Given the description of an element on the screen output the (x, y) to click on. 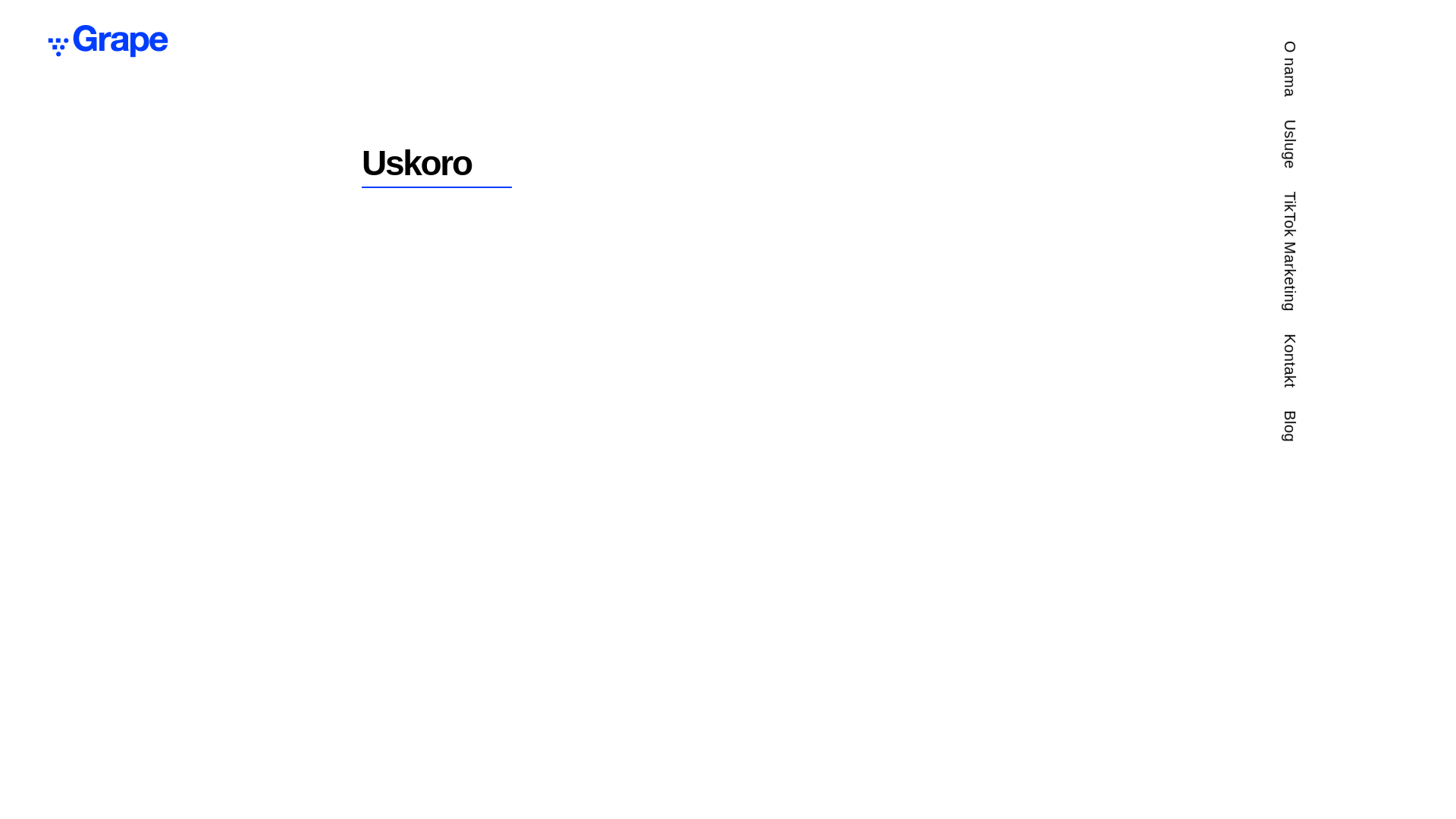
Usluge Element type: text (1305, 127)
O nama Element type: text (1309, 48)
TikTok Marketing Element type: text (1341, 199)
Blog Element type: text (1297, 418)
Kontakt Element type: text (1308, 341)
